Given the description of an element on the screen output the (x, y) to click on. 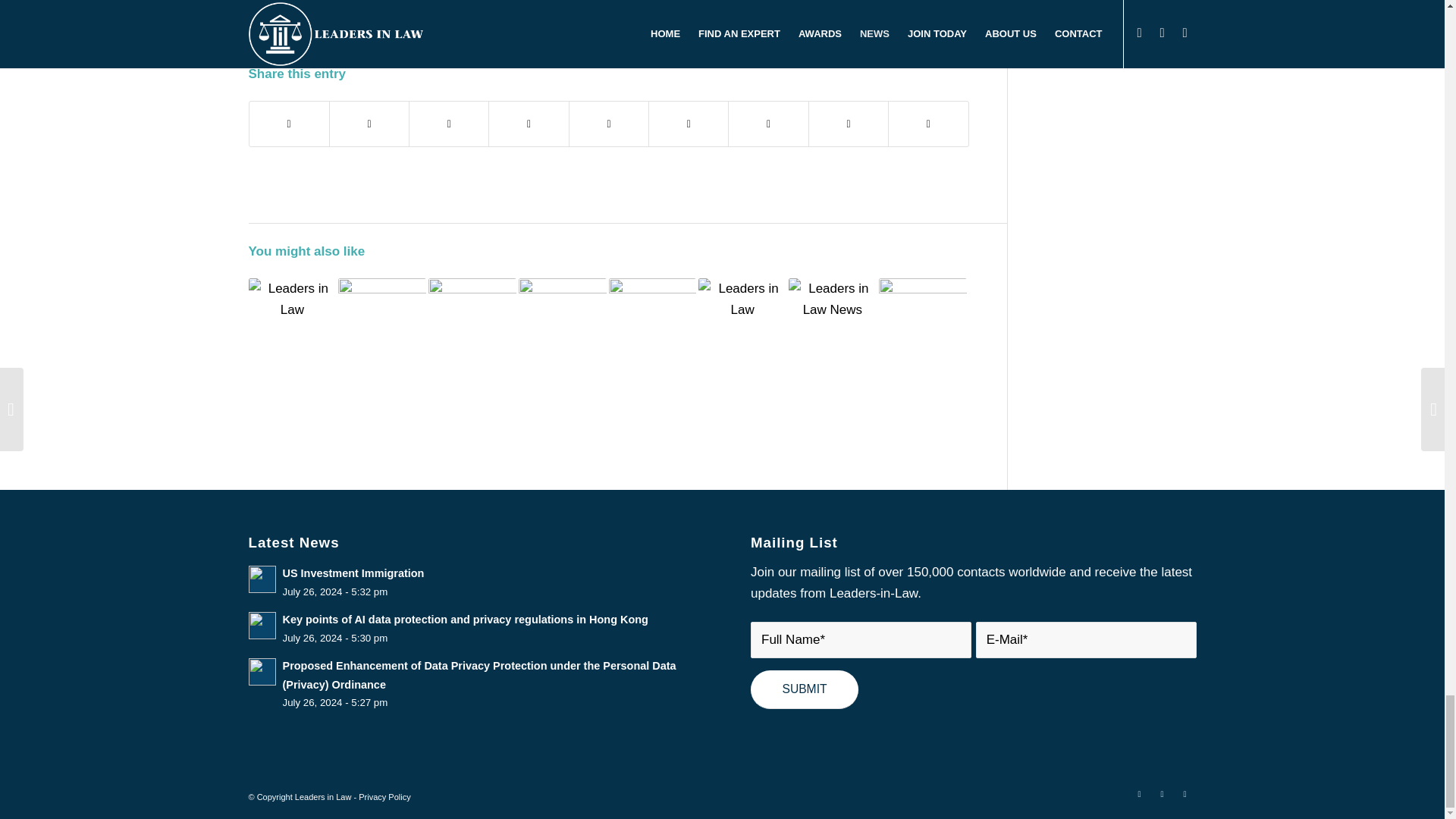
Law News (497, 29)
Leaders in Law Article (714, 29)
Leaders in Law News (832, 29)
Law Firm (353, 29)
Legal News (925, 29)
Law Firm News (423, 29)
Submit (805, 689)
Attorney (302, 29)
Lawyer (547, 29)
Leaders in Law (611, 29)
